Given the description of an element on the screen output the (x, y) to click on. 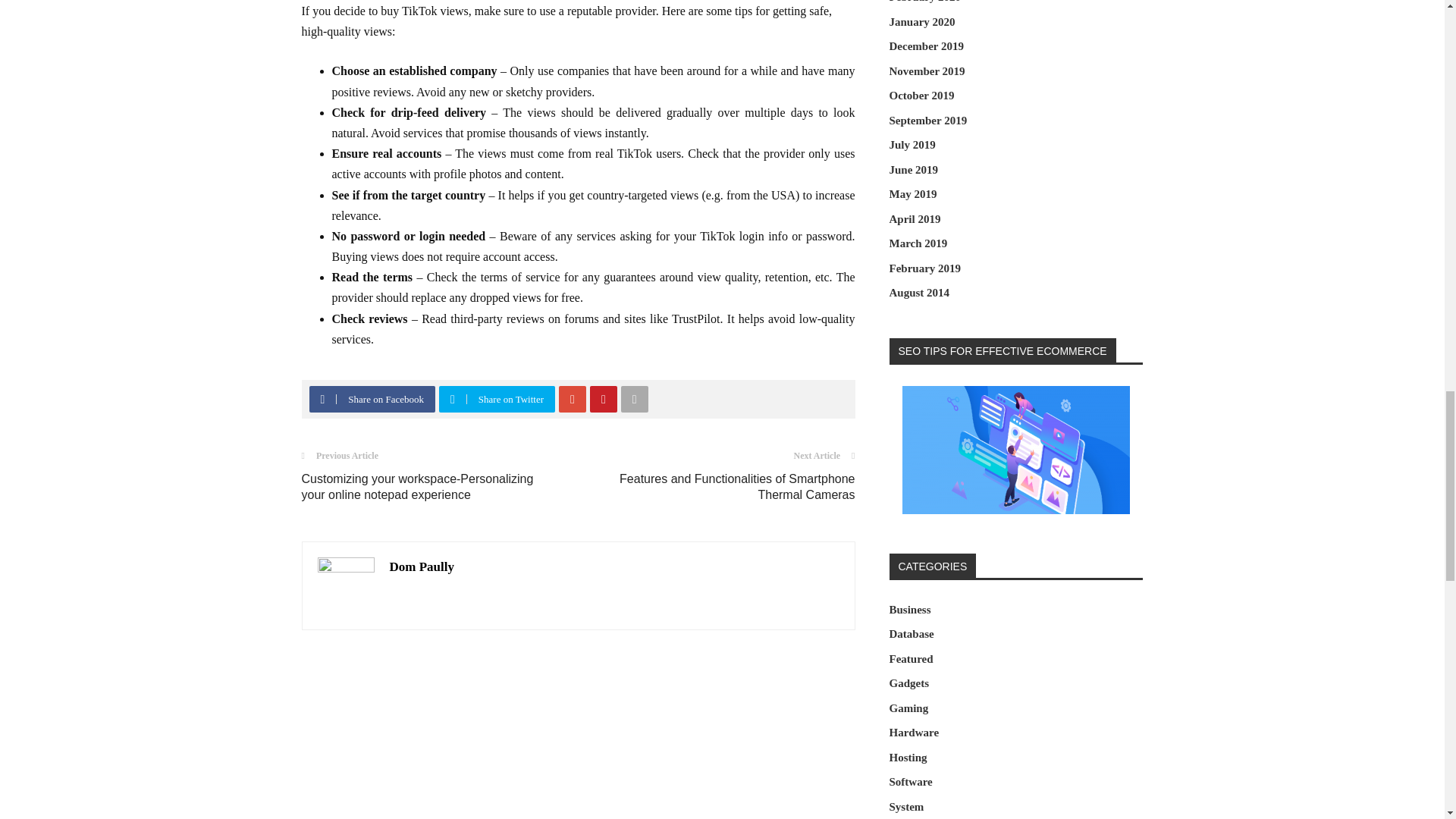
Share on Twitter (499, 398)
Facebook (322, 398)
Pinterest (603, 398)
Share on Facebook (373, 398)
Google Plus (572, 398)
Twitter (451, 398)
